Given the description of an element on the screen output the (x, y) to click on. 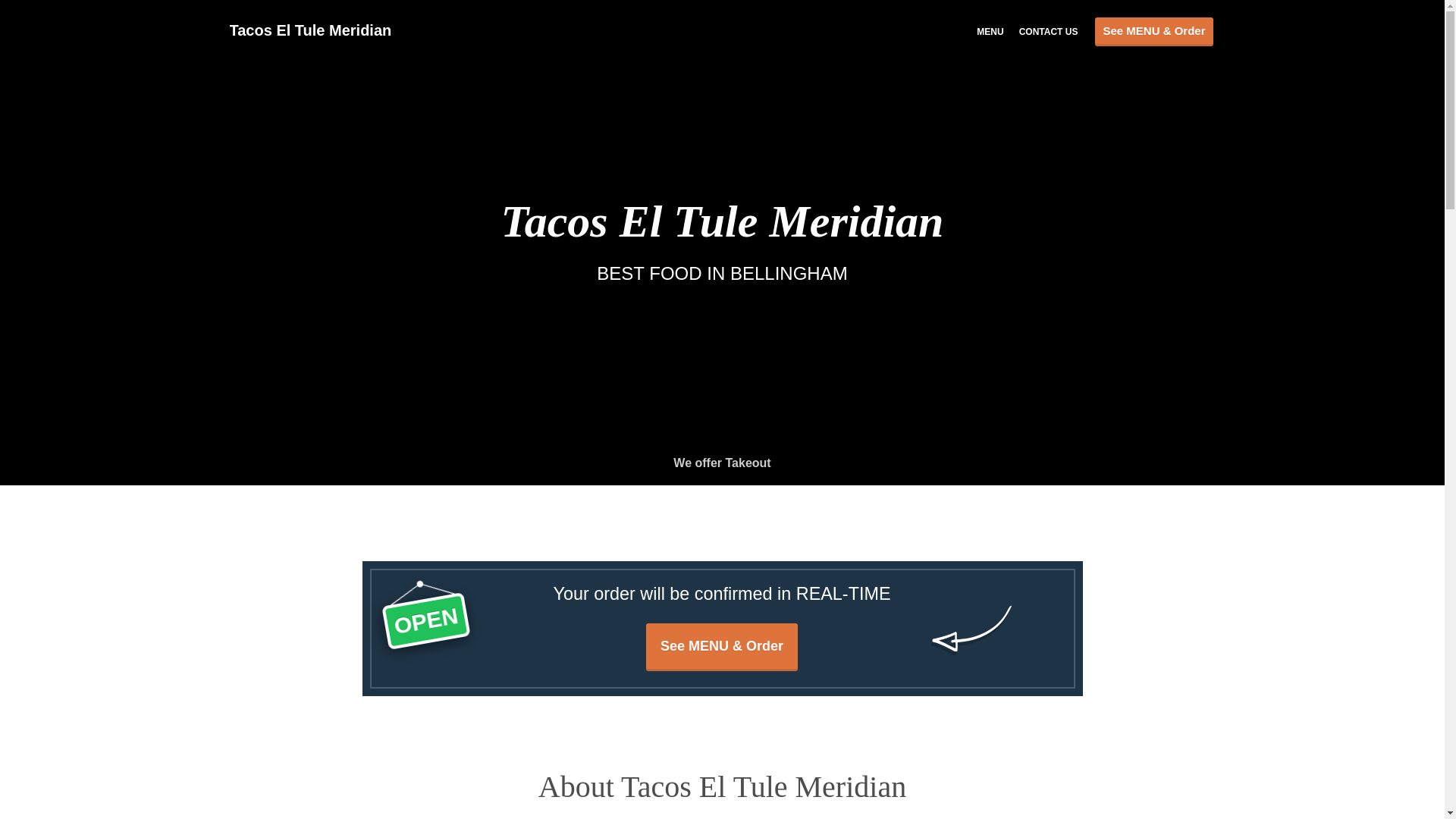
CONTACT US (1048, 30)
MENU (989, 30)
Tacos El Tule Meridian (317, 30)
